Given the description of an element on the screen output the (x, y) to click on. 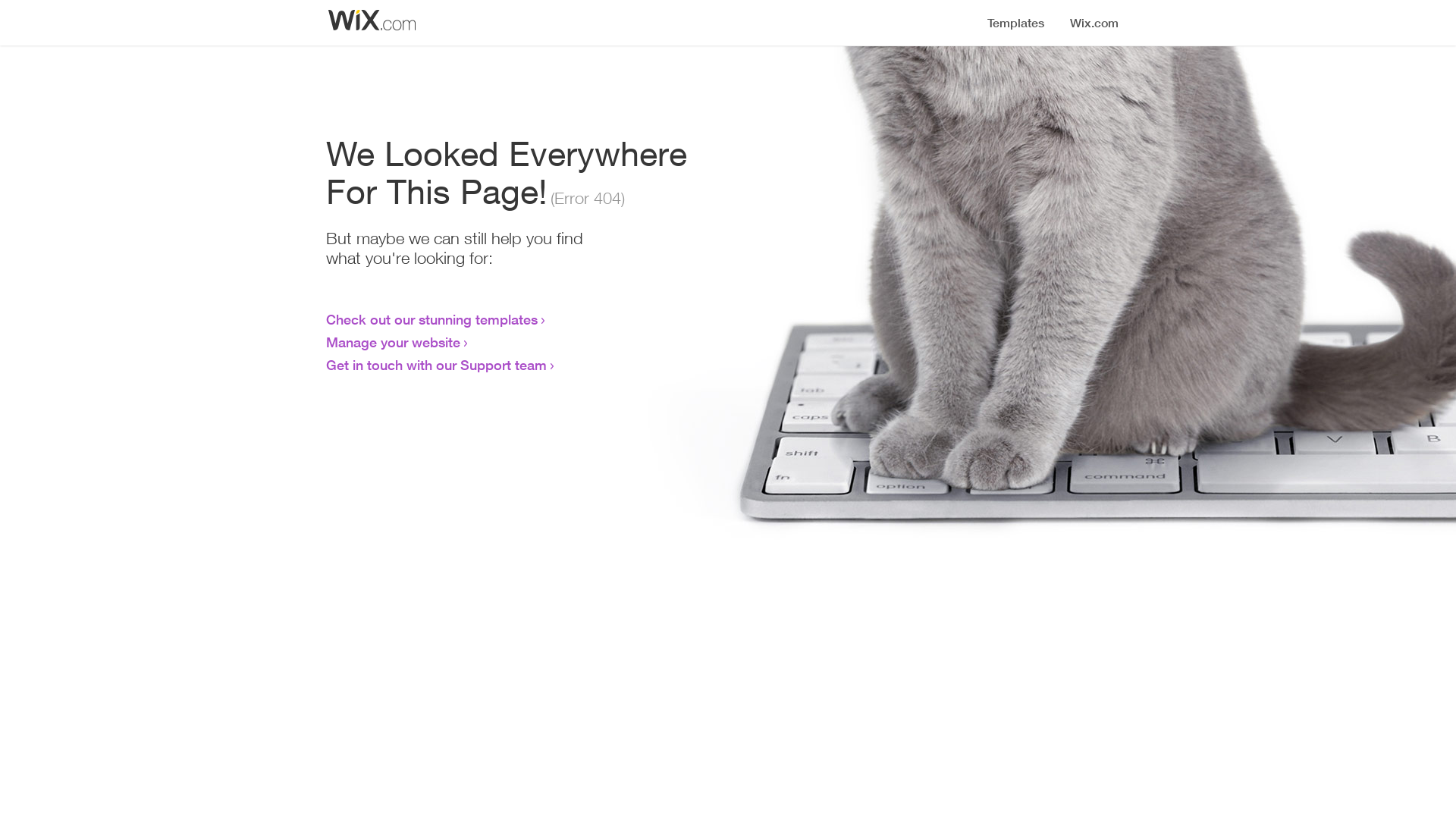
Manage your website Element type: text (393, 341)
Check out our stunning templates Element type: text (431, 318)
Get in touch with our Support team Element type: text (436, 364)
